Given the description of an element on the screen output the (x, y) to click on. 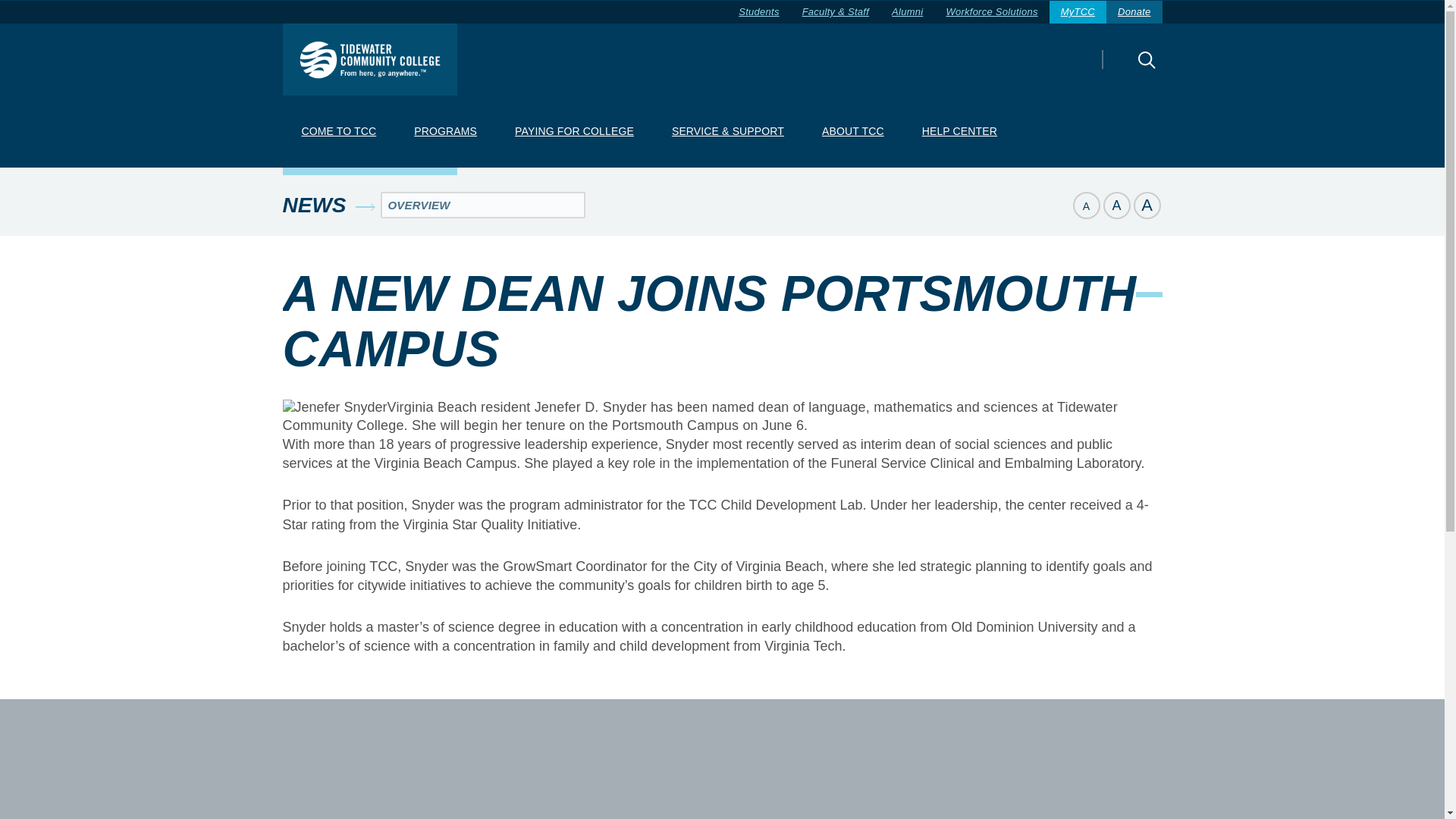
Workforce Solutions (991, 11)
Students (758, 11)
Set page copy to small size (1085, 205)
COME TO TCC (338, 131)
Donate (1133, 11)
Tidewater Community College (369, 59)
MyTCC (1077, 11)
PROGRAMS (445, 131)
Set page copy to normal size (1115, 205)
Alumni (907, 11)
